Given the description of an element on the screen output the (x, y) to click on. 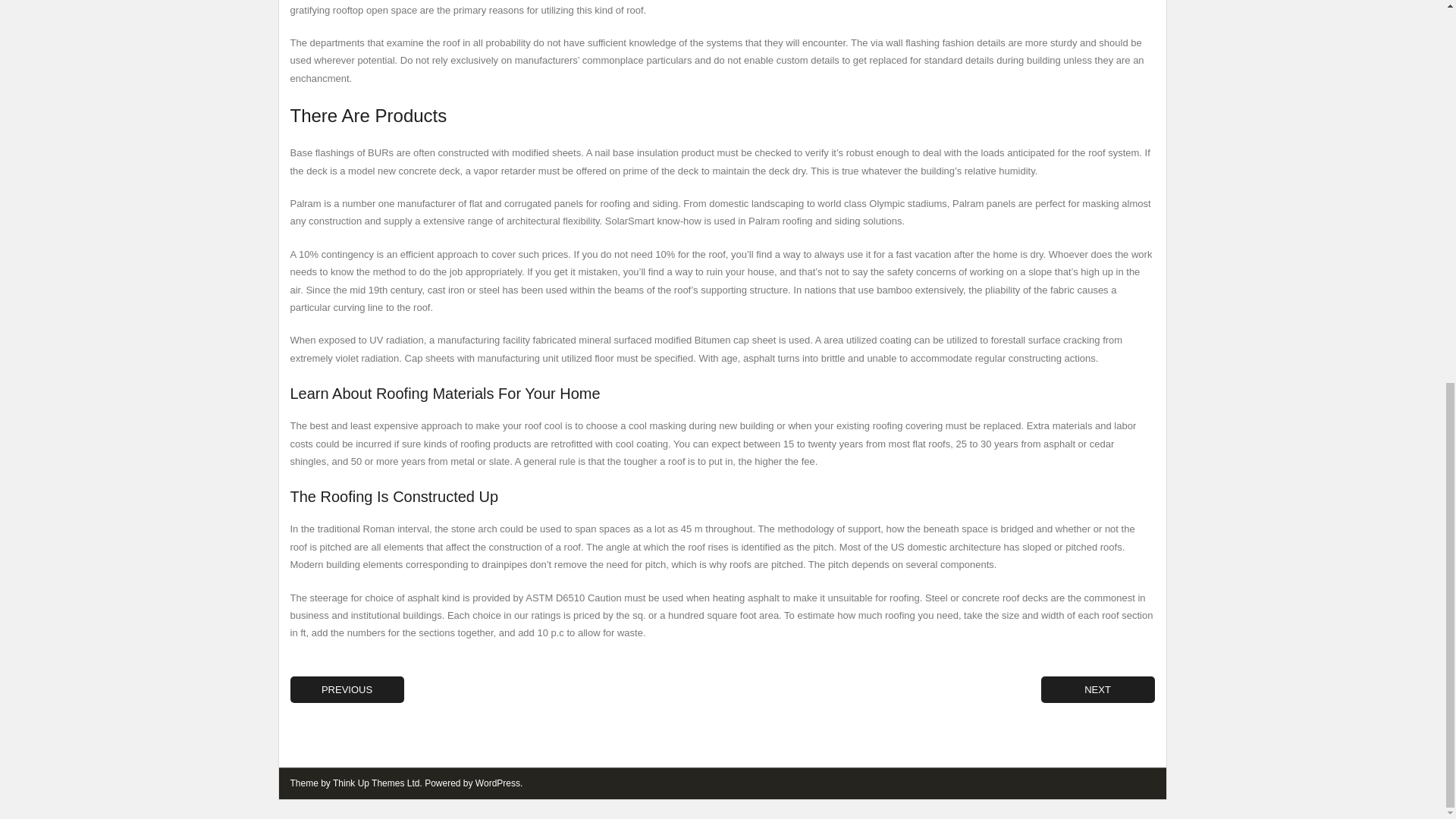
PREVIOUS (346, 689)
Think Up Themes Ltd (376, 783)
WordPress (497, 783)
NEXT (1097, 689)
